Given the description of an element on the screen output the (x, y) to click on. 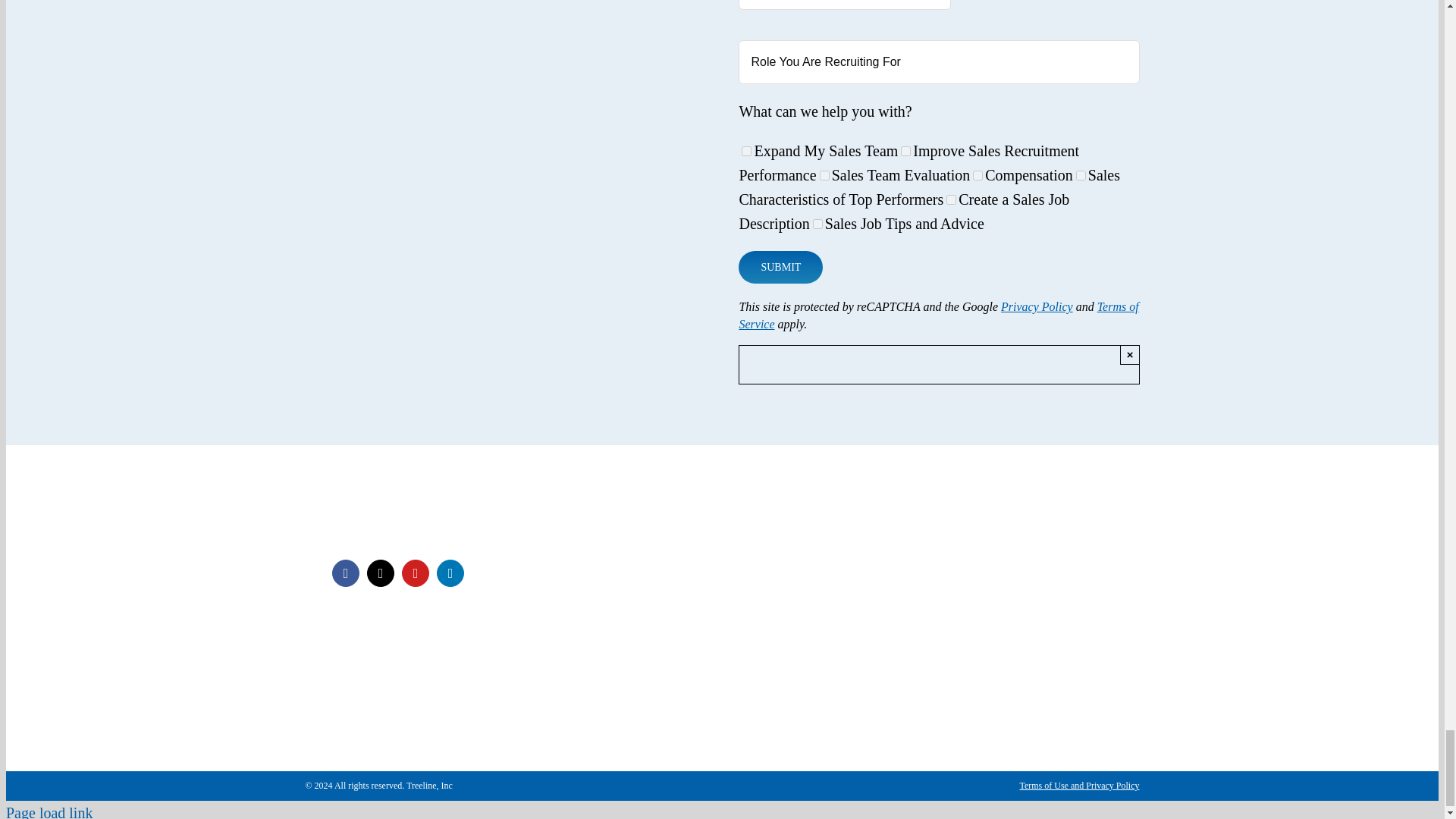
Submit (780, 266)
Sales Job Tips and Advice (817, 224)
Expand My Sales Team (746, 151)
Sales Characteristics of Top Performers (1080, 175)
Create a Sales Job Description (951, 199)
Improve Sales Recruitment Performance (906, 151)
Sales Team Evaluation (824, 175)
Compensation (977, 175)
